Given the description of an element on the screen output the (x, y) to click on. 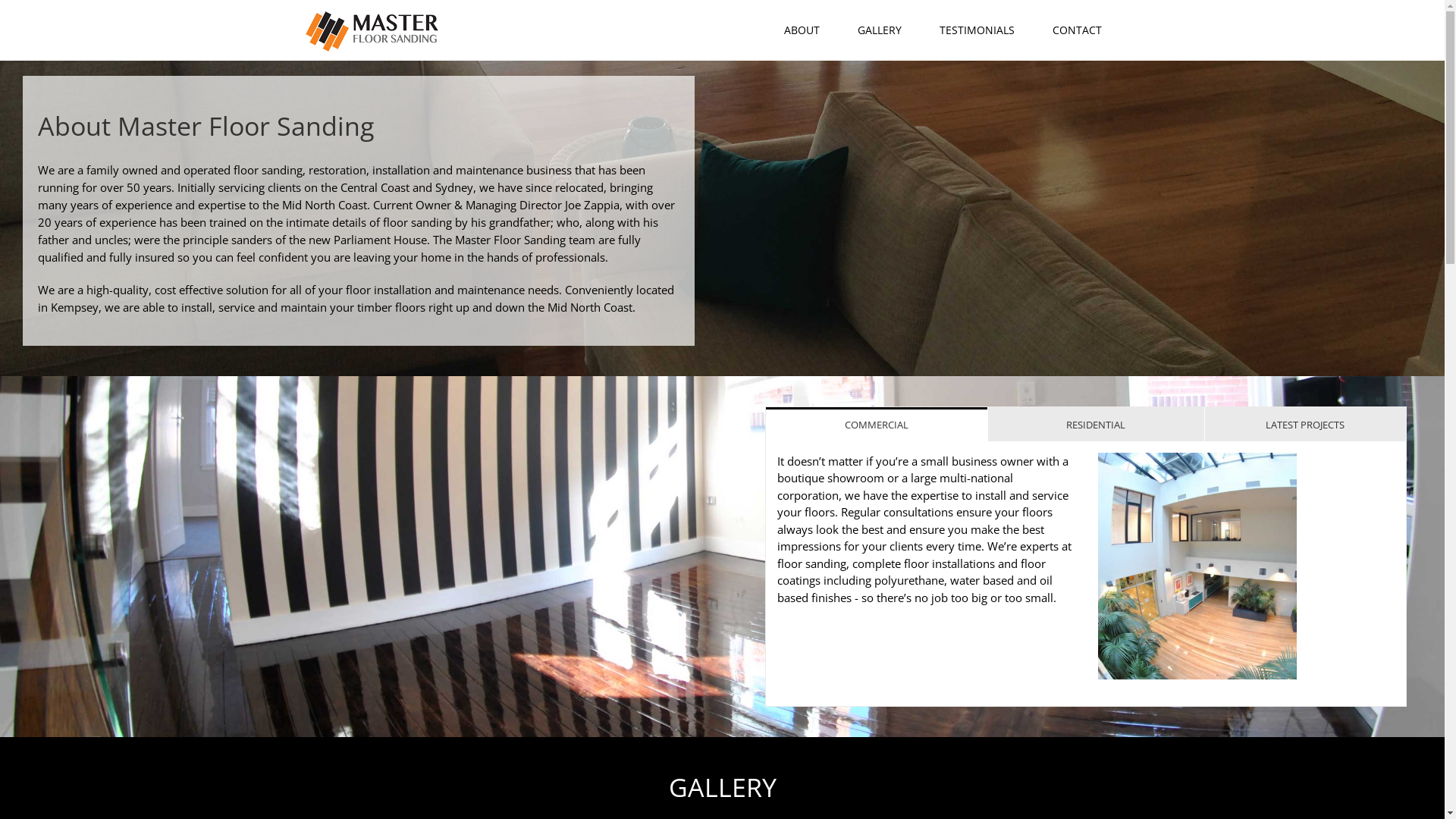
COMMERCIAL Element type: text (875, 424)
CONTACT Element type: text (1076, 30)
RESIDENTIAL Element type: text (1096, 424)
TESTIMONIALS Element type: text (975, 30)
ABOUT Element type: text (801, 30)
LATEST PROJECTS Element type: text (1304, 424)
GALLERY Element type: text (878, 30)
commercial Element type: hover (1197, 565)
